Given the description of an element on the screen output the (x, y) to click on. 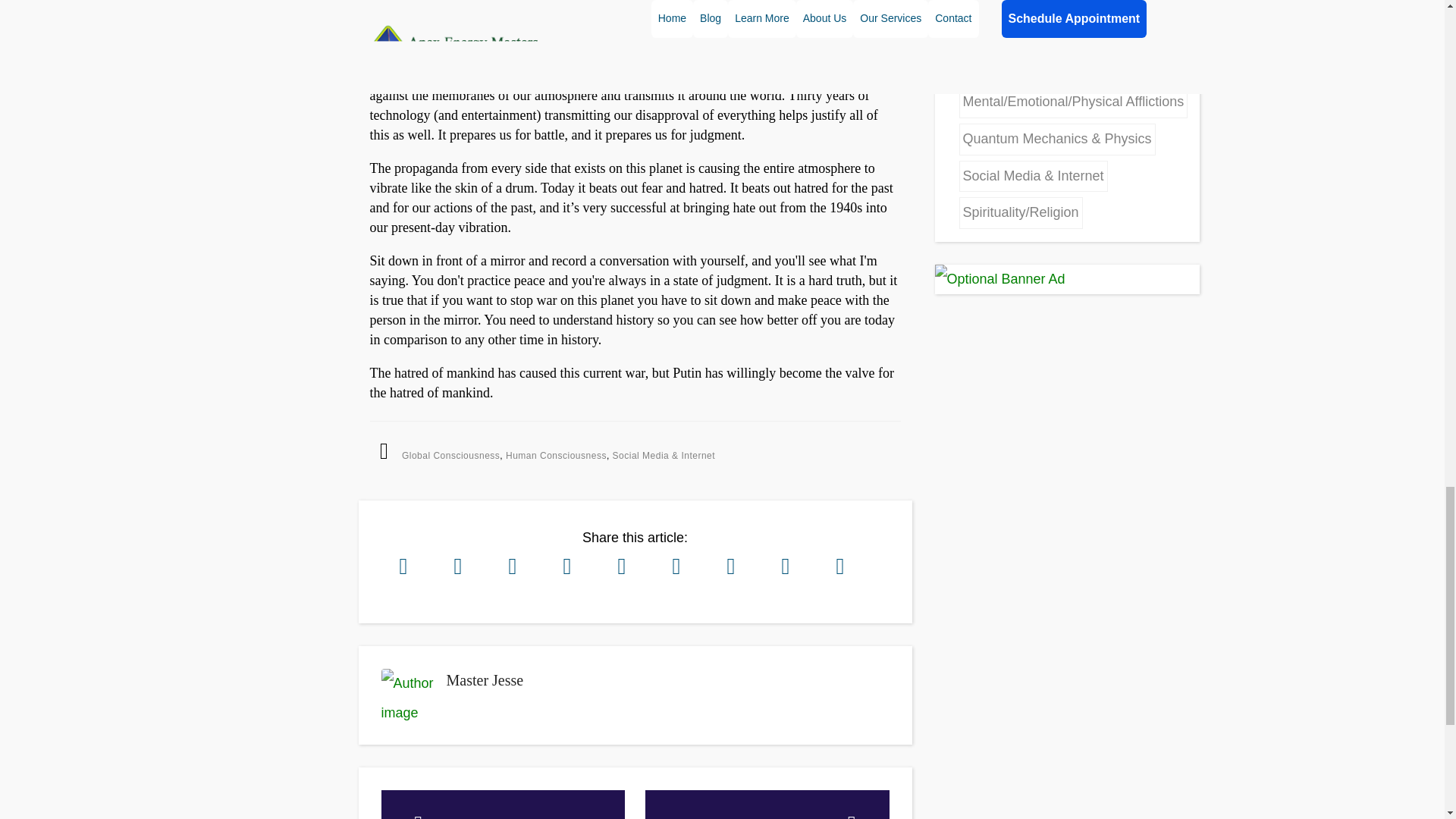
Master Jesse (767, 804)
Human Consciousness (483, 679)
Global Consciousness (502, 804)
